Given the description of an element on the screen output the (x, y) to click on. 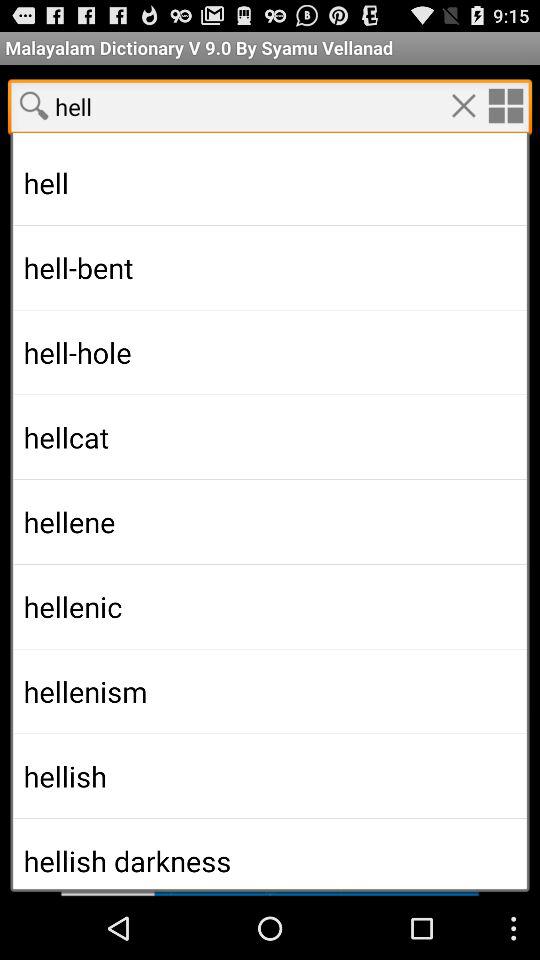
cancel (463, 105)
